Given the description of an element on the screen output the (x, y) to click on. 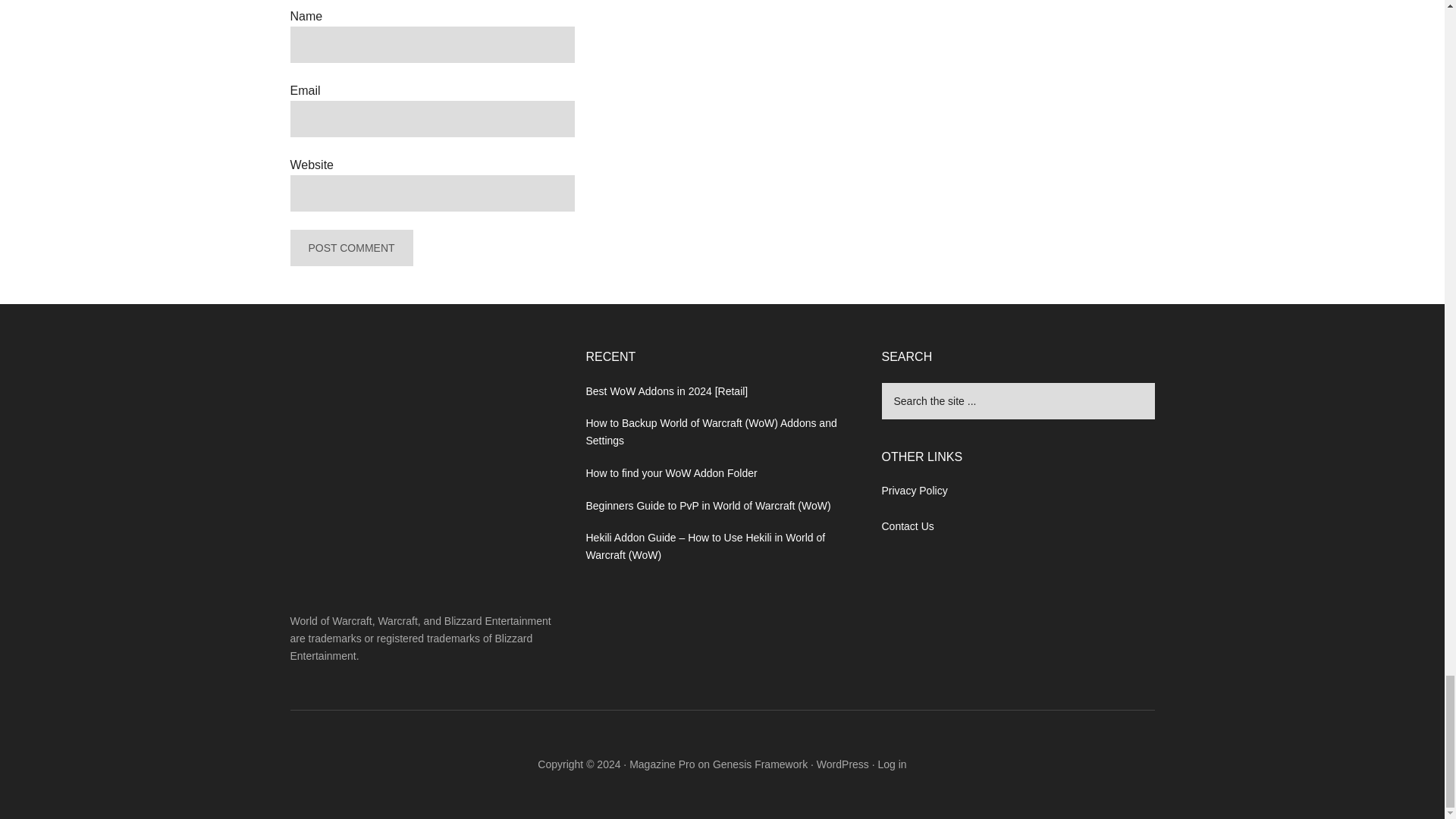
Post Comment (350, 248)
